Given the description of an element on the screen output the (x, y) to click on. 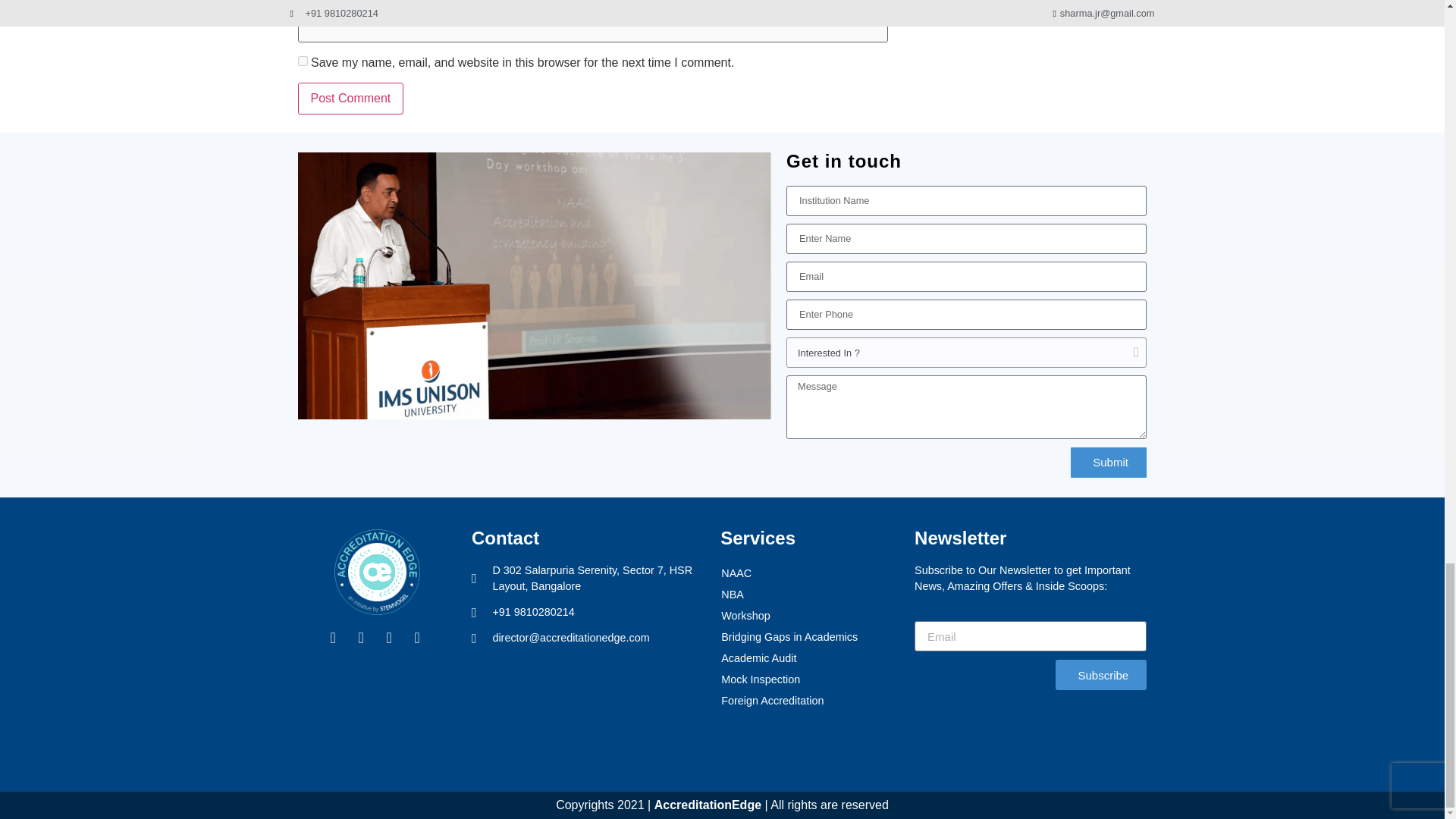
Post Comment (350, 98)
Post Comment (350, 98)
yes (302, 61)
